Given the description of an element on the screen output the (x, y) to click on. 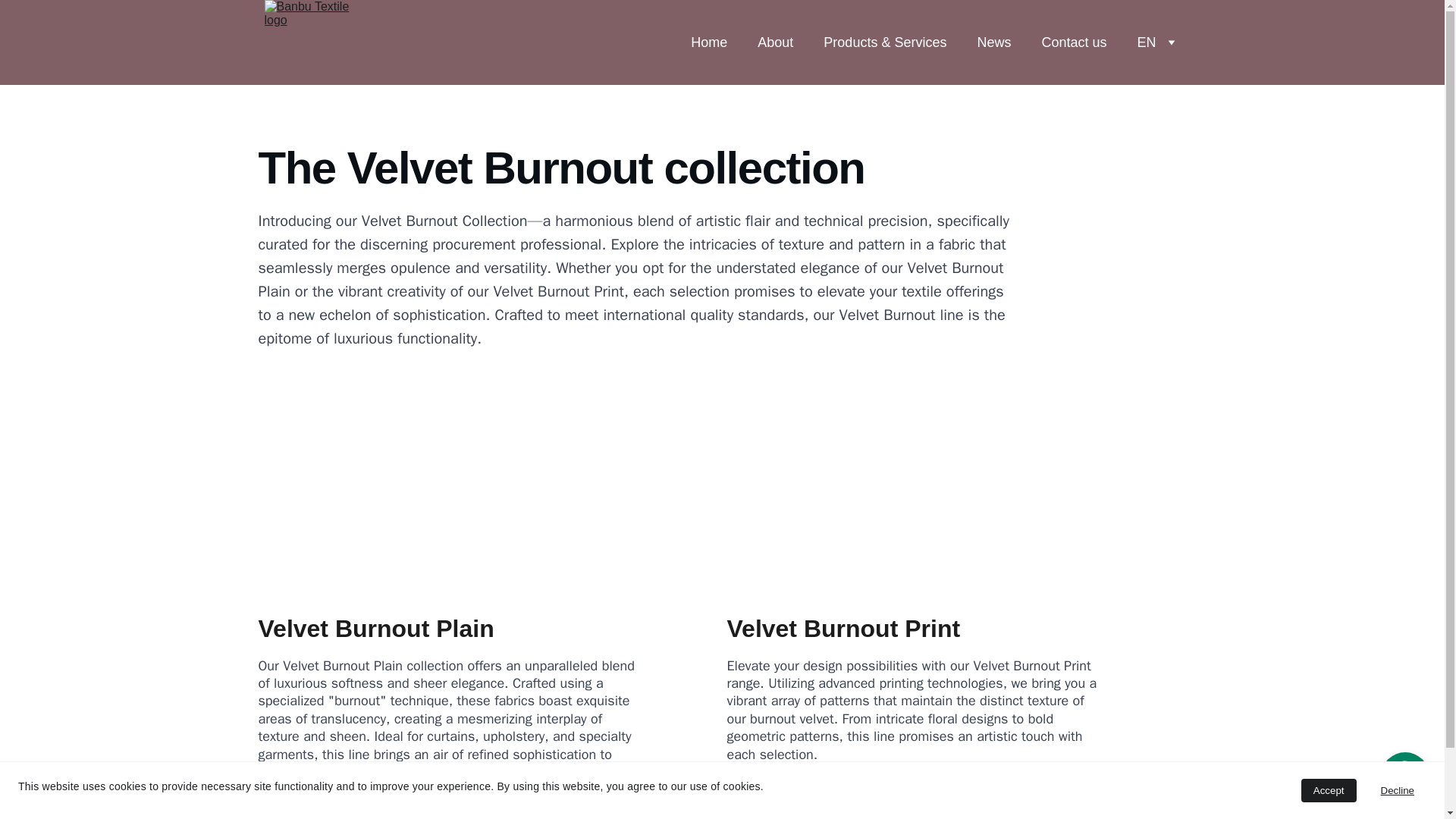
Velvet Burnout Print (842, 628)
Decline (1397, 790)
Home (708, 41)
Velvet Burnout Plain (375, 628)
News (993, 41)
Accept (1328, 790)
Open WhatsApp (1404, 776)
About (775, 41)
Contact us (1073, 41)
